Given the description of an element on the screen output the (x, y) to click on. 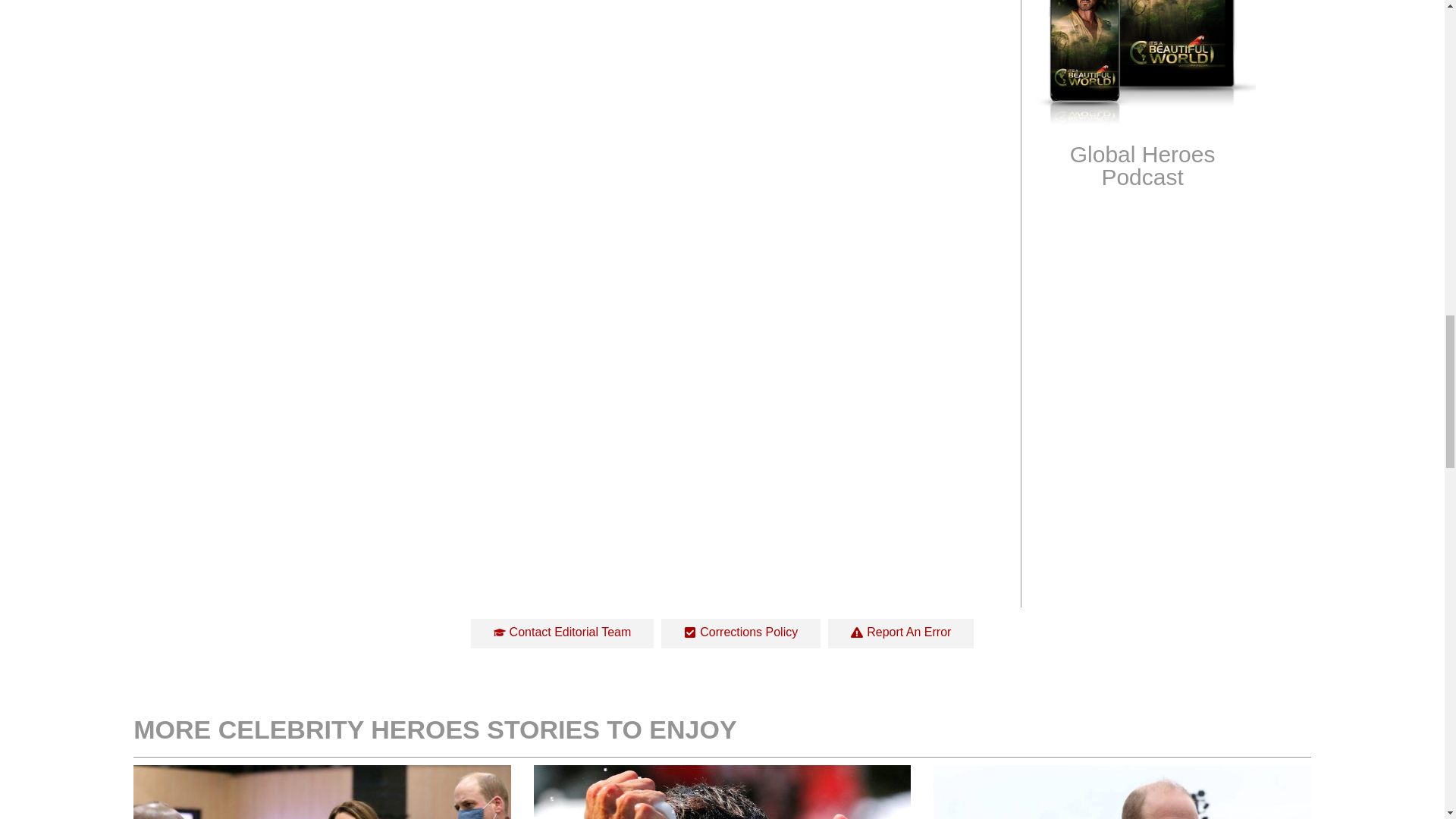
GLOBAL HEROES (1142, 355)
